Given the description of an element on the screen output the (x, y) to click on. 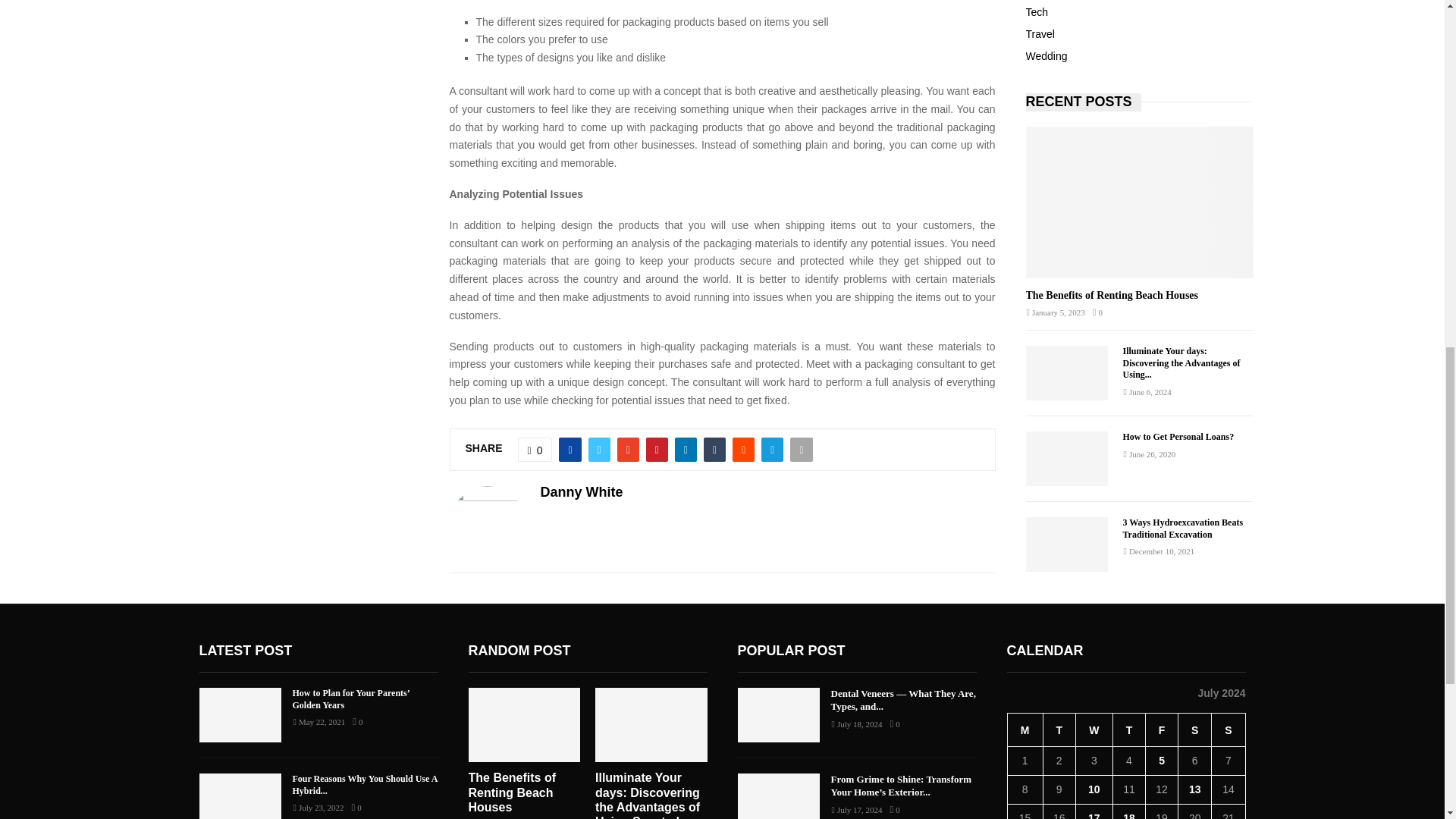
Posts by Danny White (581, 492)
Like (535, 449)
0 (535, 449)
